Given the description of an element on the screen output the (x, y) to click on. 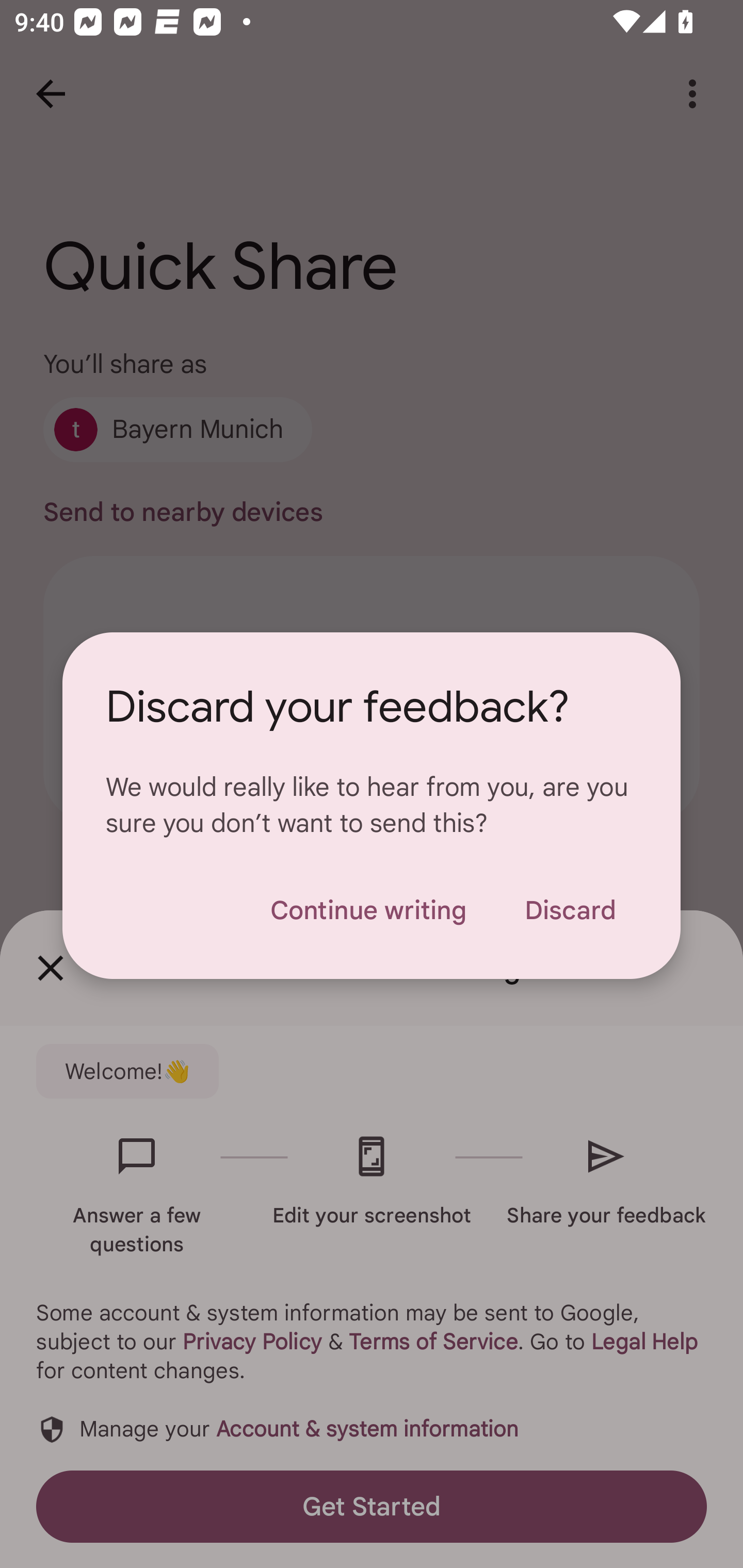
Continue writing (368, 910)
Discard (569, 910)
